Given the description of an element on the screen output the (x, y) to click on. 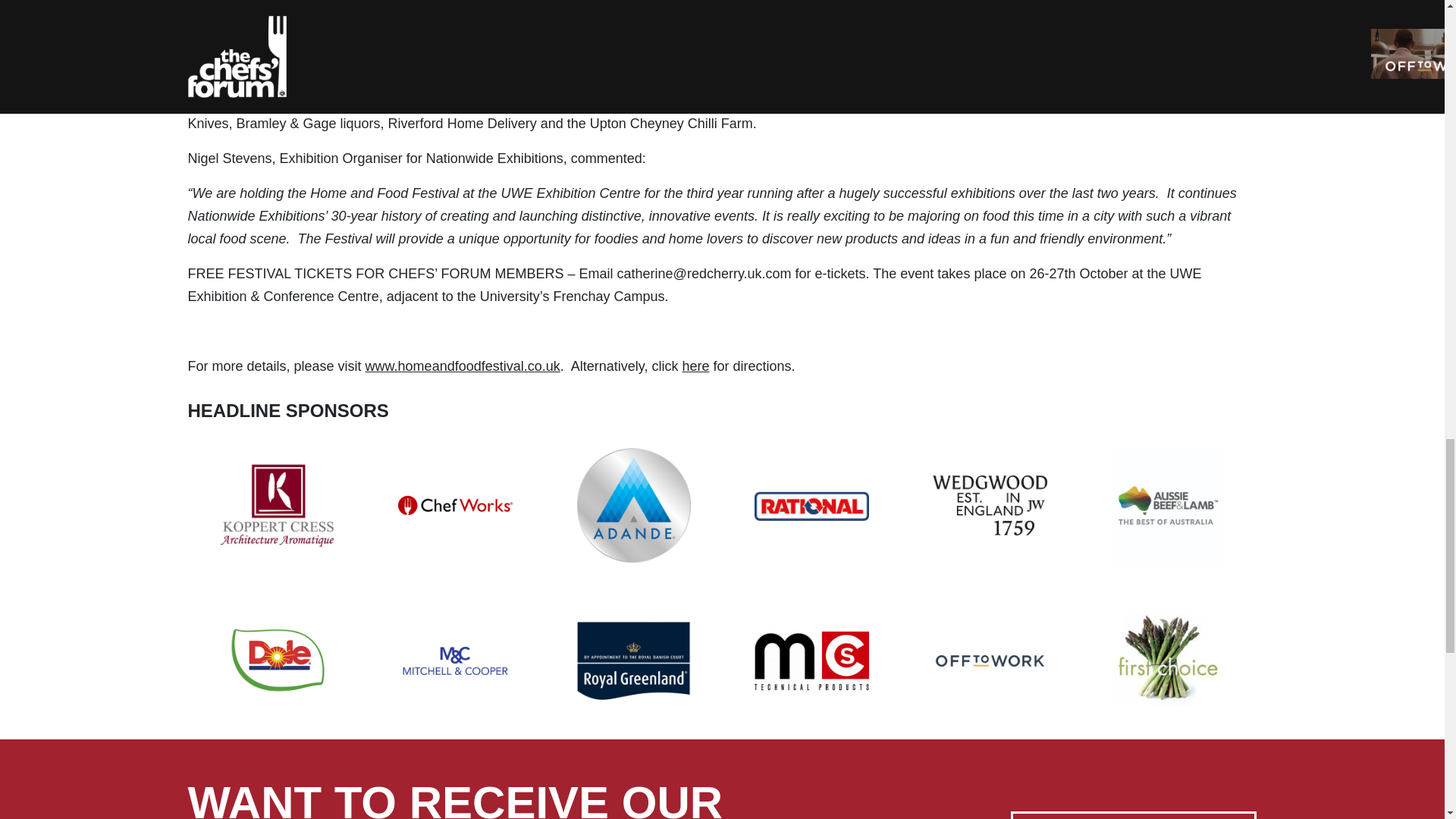
here (695, 365)
www.homeandfoodfestival.co.uk (462, 365)
